Given the description of an element on the screen output the (x, y) to click on. 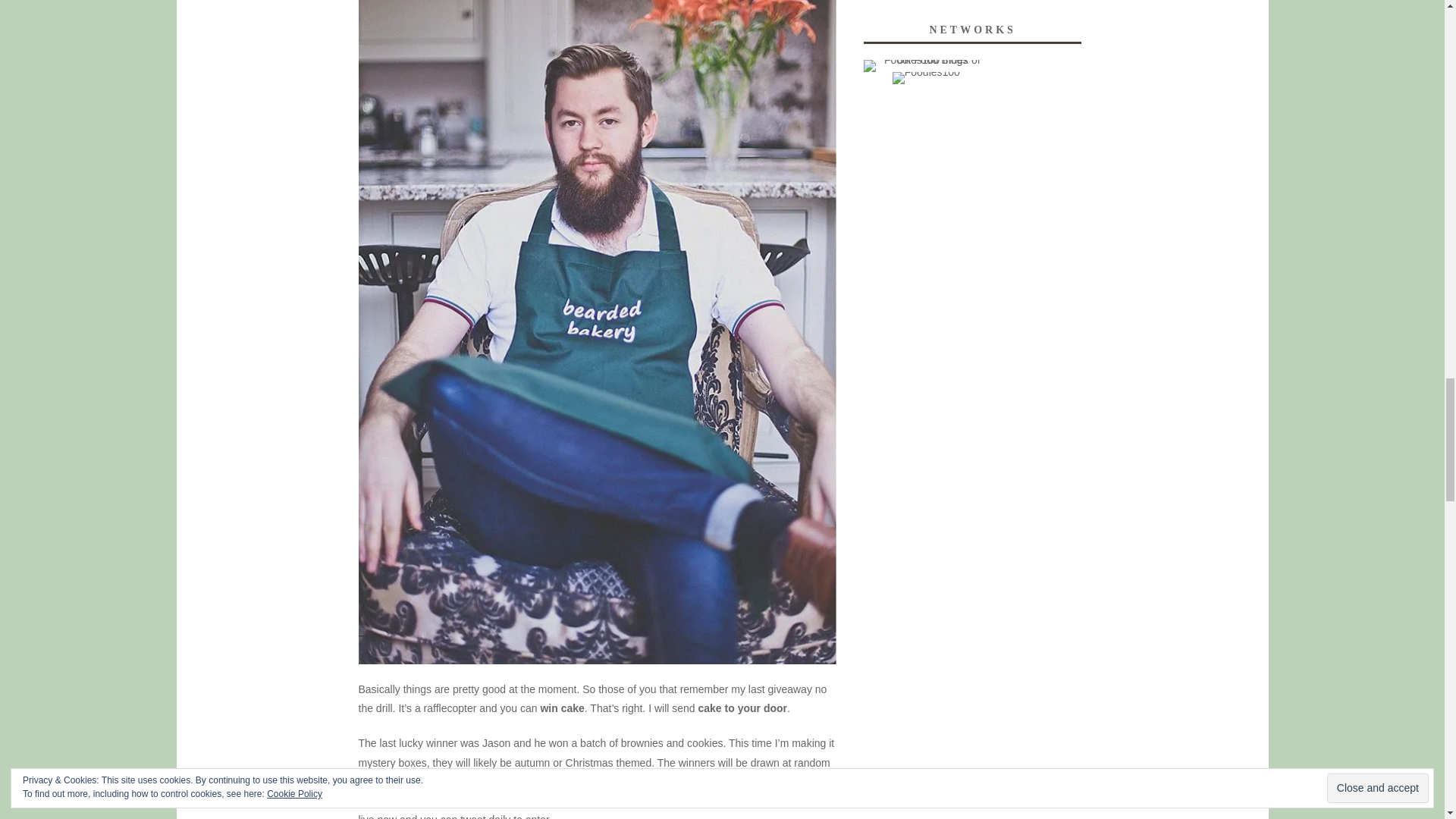
Foodies100 (925, 78)
Foodies100 Index of UK Food Blogs (925, 60)
Foodies100 Index of UK Food Blogs (925, 65)
Foodies100 (925, 71)
